Given the description of an element on the screen output the (x, y) to click on. 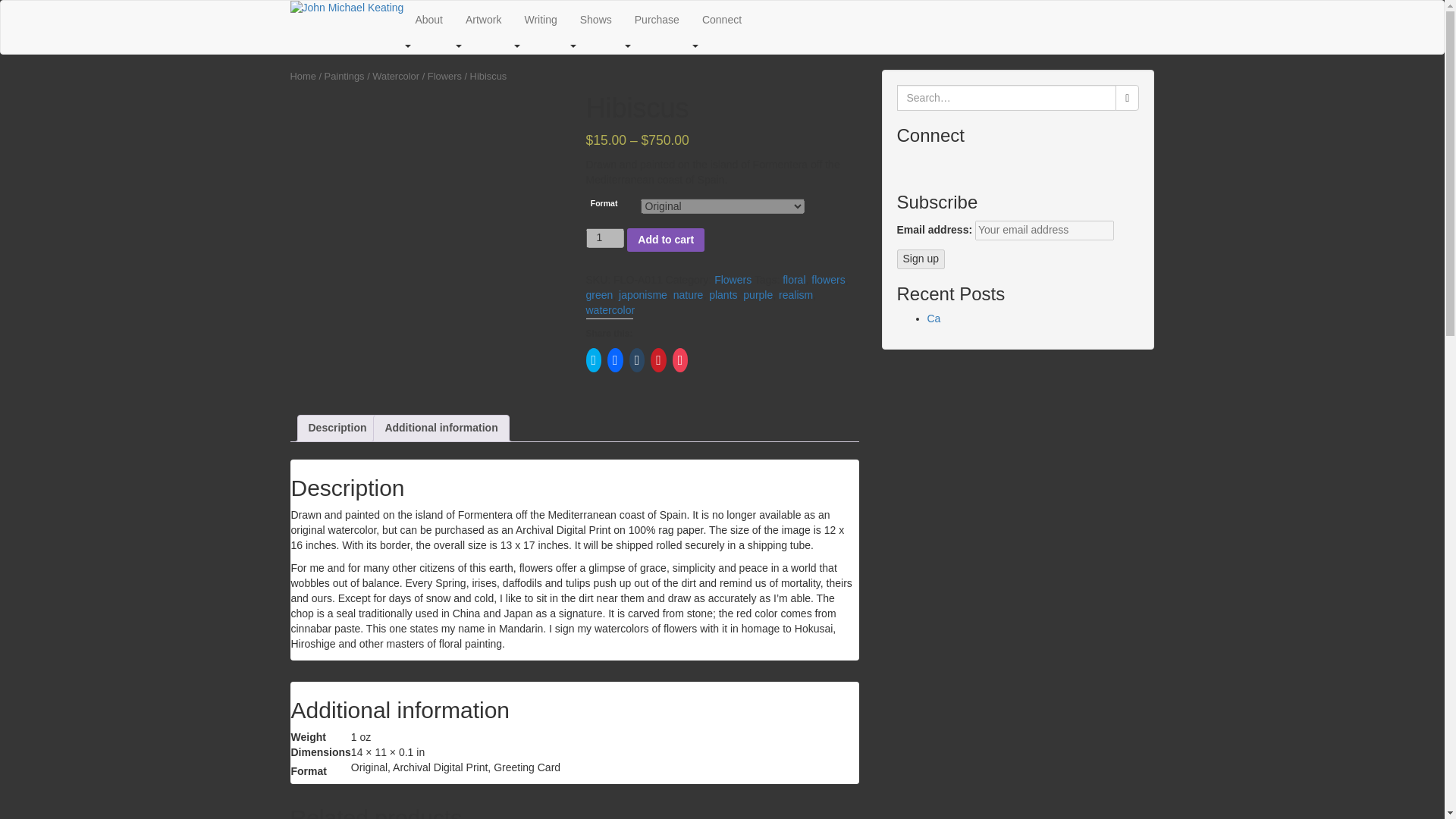
Connect (721, 19)
1 (604, 238)
Shows (596, 19)
Paintings (344, 75)
About (428, 19)
Home (302, 75)
Search for: (1006, 97)
Artwork (483, 19)
Writing (539, 19)
Purchase (656, 19)
